Given the description of an element on the screen output the (x, y) to click on. 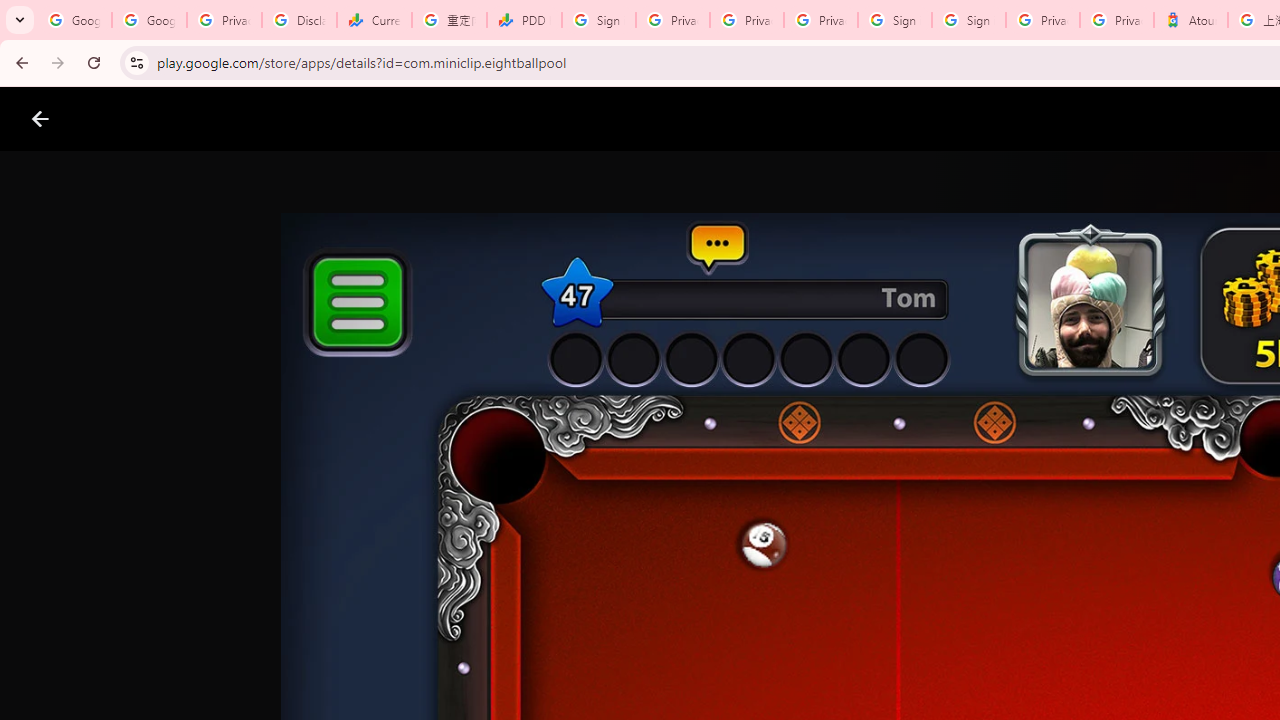
Kids (385, 119)
Privacy Checkup (820, 20)
Google Play logo (111, 119)
Sign in - Google Accounts (894, 20)
Privacy Checkup (747, 20)
Sign in - Google Accounts (598, 20)
Miniclip.com (680, 586)
Games (248, 119)
Google Workspace Admin Community (74, 20)
